Given the description of an element on the screen output the (x, y) to click on. 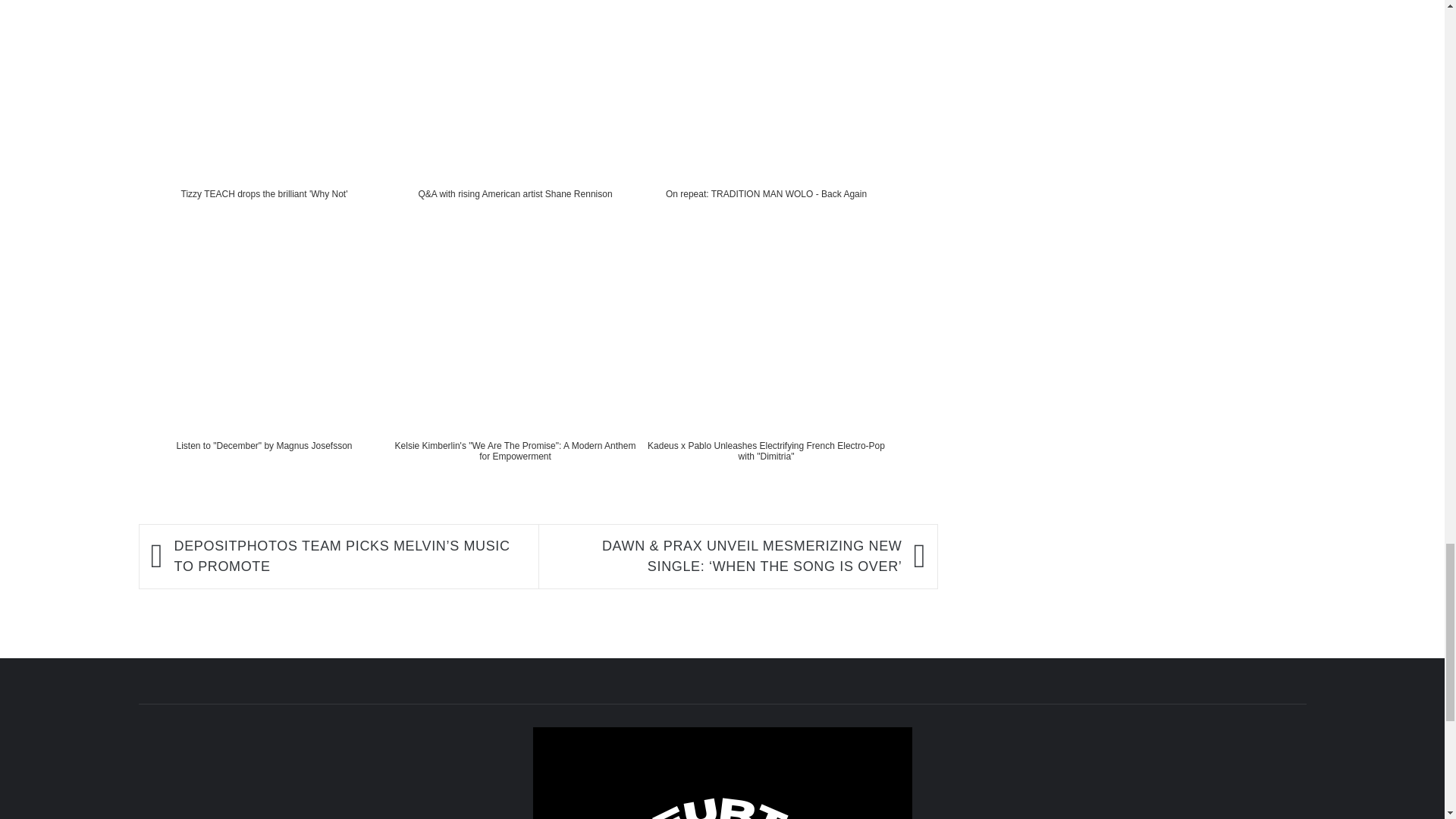
Listen to "December" by Magnus Josefsson (264, 375)
Tizzy TEACH drops the brilliant 'Why Not' (264, 124)
On repeat: TRADITION MAN WOLO - Back Again (765, 124)
